Given the description of an element on the screen output the (x, y) to click on. 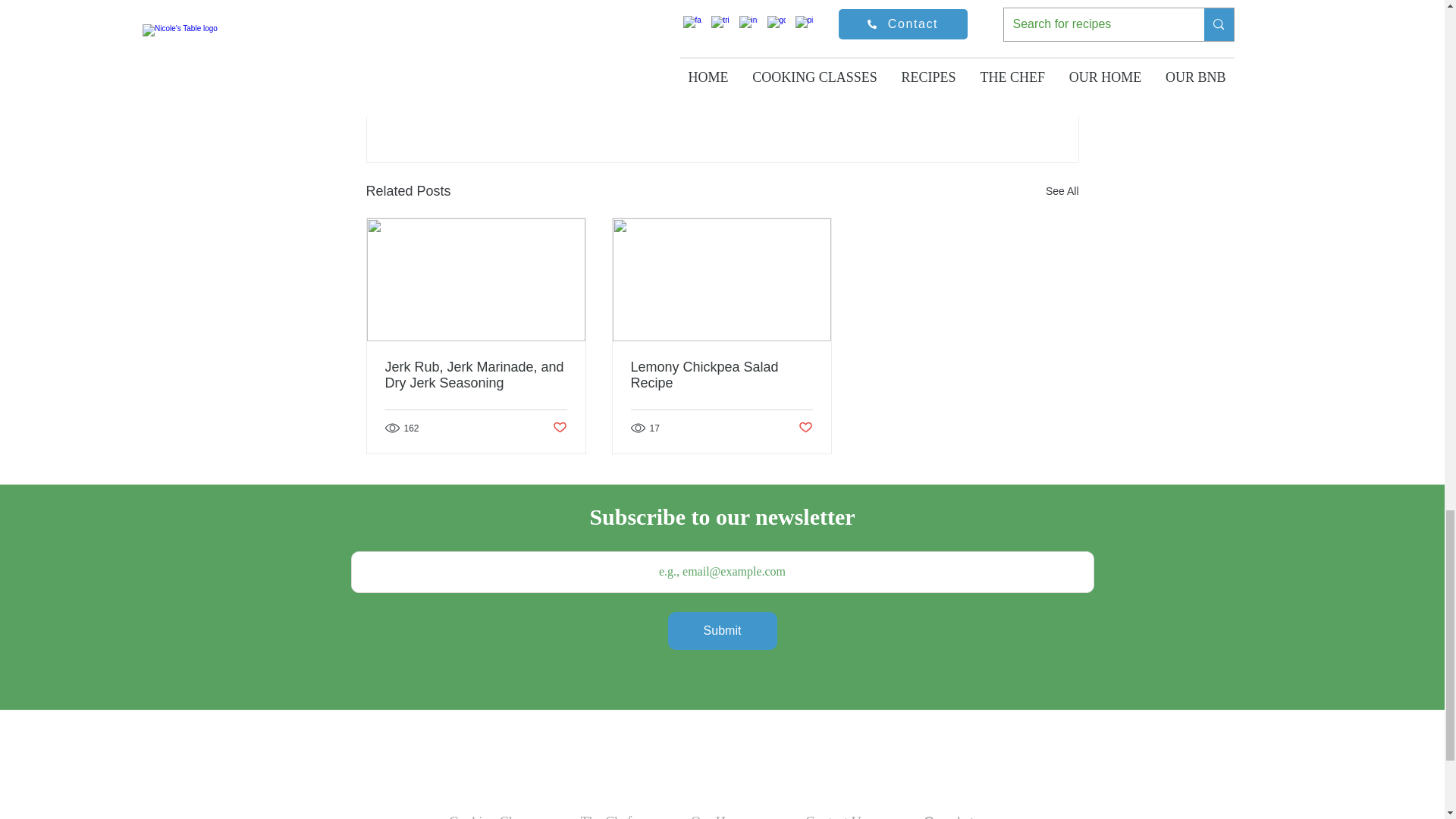
Lemony Chickpea Salad Recipe (721, 375)
Post not marked as liked (804, 427)
See All (990, 108)
Main Course (1061, 191)
Jerk Rub, Jerk Marinade, and Dry Jerk Seasoning (972, 62)
Post not marked as liked (476, 375)
Appetizers (558, 427)
